Given the description of an element on the screen output the (x, y) to click on. 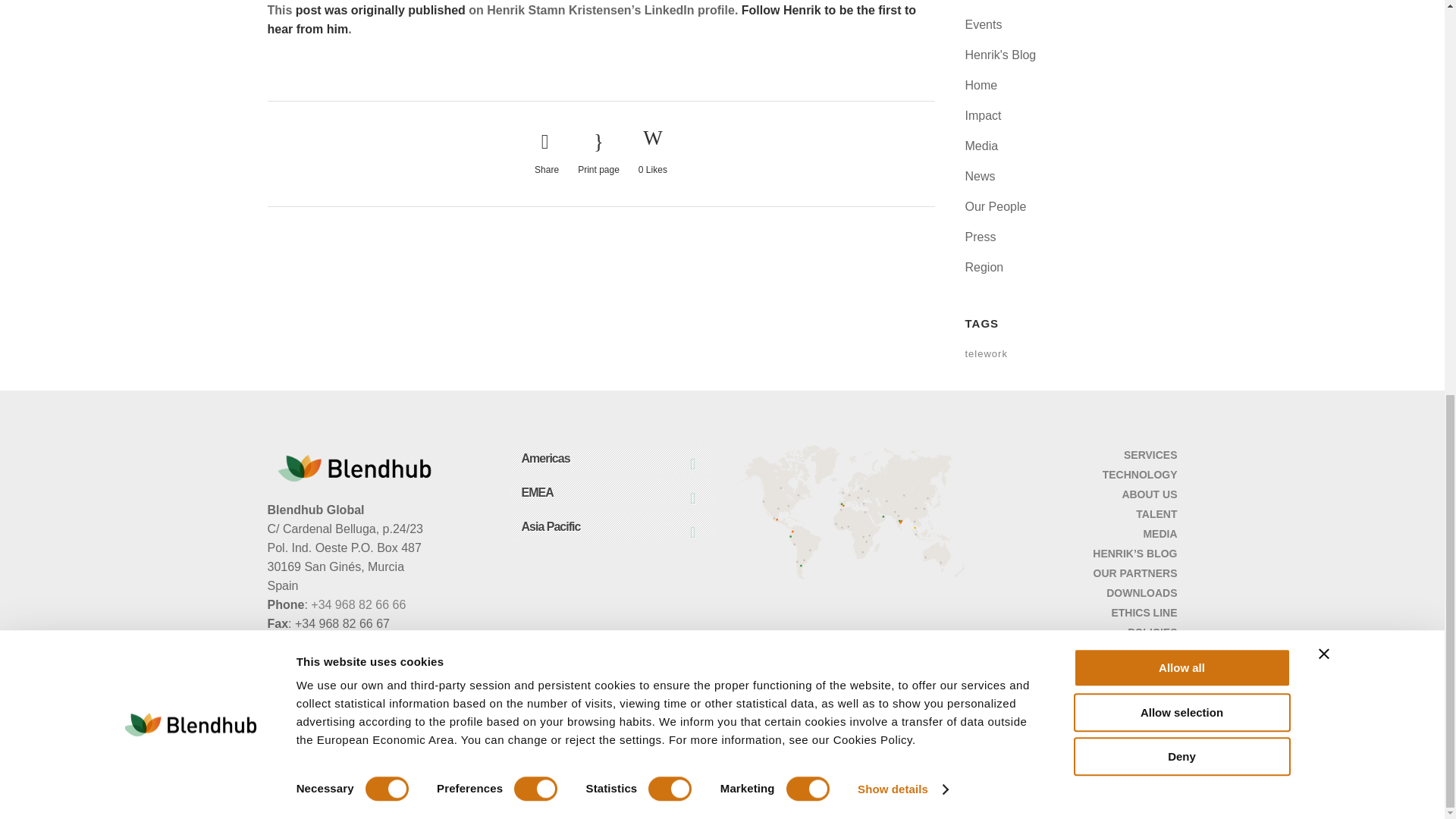
Show details (902, 27)
